Given the description of an element on the screen output the (x, y) to click on. 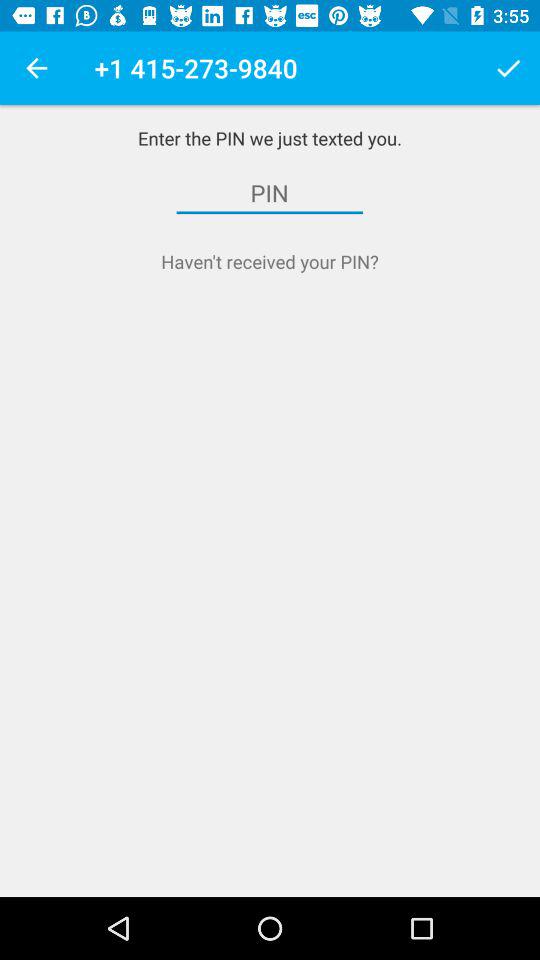
turn on haven t received (269, 261)
